Given the description of an element on the screen output the (x, y) to click on. 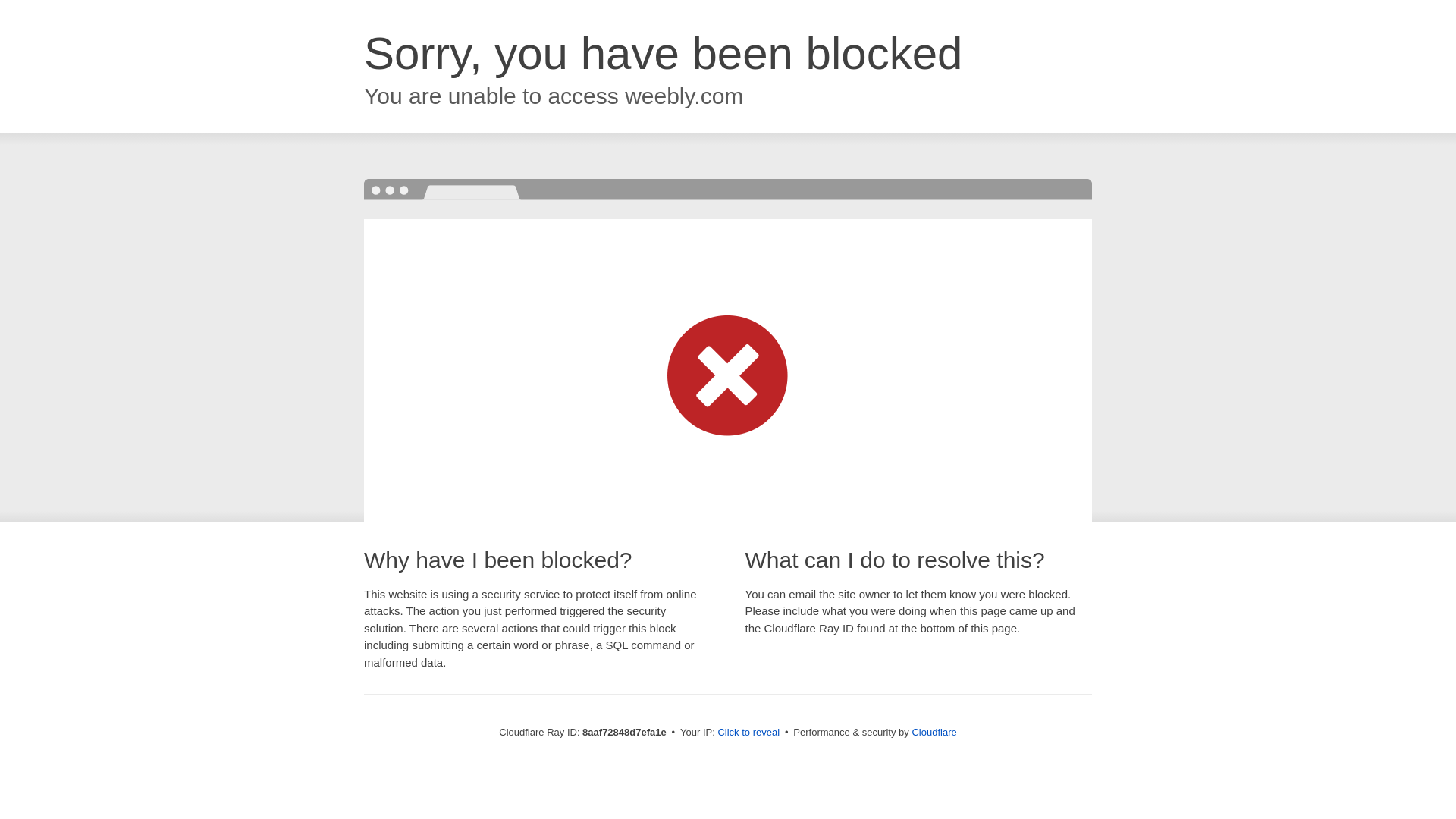
Click to reveal (747, 732)
Cloudflare (933, 731)
